Given the description of an element on the screen output the (x, y) to click on. 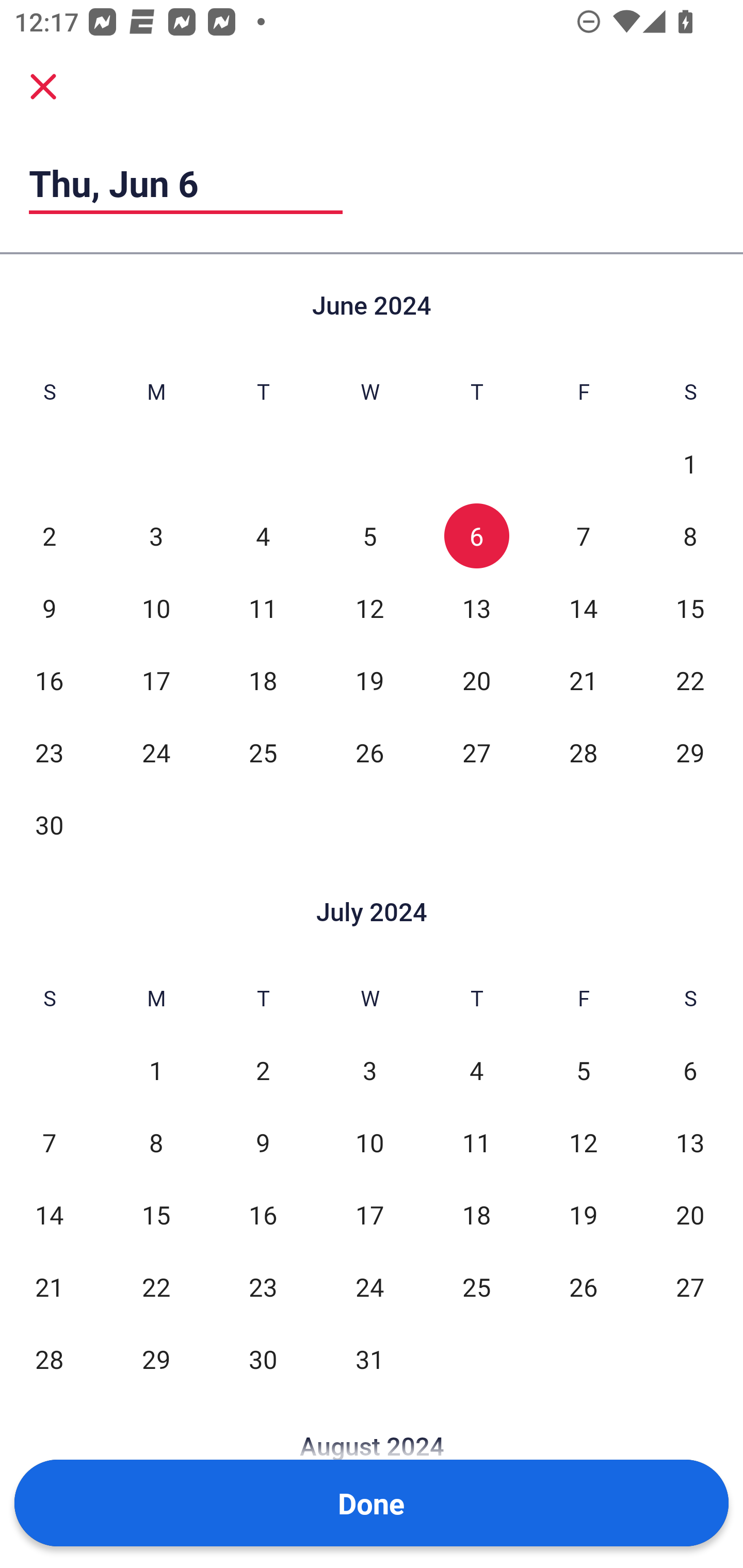
Cancel (43, 86)
Thu, Jun 6 (185, 182)
1 Sat, Jun 1, Not Selected (690, 464)
2 Sun, Jun 2, Not Selected (49, 536)
3 Mon, Jun 3, Not Selected (156, 536)
4 Tue, Jun 4, Not Selected (263, 536)
5 Wed, Jun 5, Not Selected (369, 536)
6 Thu, Jun 6, Selected (476, 536)
7 Fri, Jun 7, Not Selected (583, 536)
8 Sat, Jun 8, Not Selected (690, 536)
9 Sun, Jun 9, Not Selected (49, 608)
10 Mon, Jun 10, Not Selected (156, 608)
11 Tue, Jun 11, Not Selected (263, 608)
12 Wed, Jun 12, Not Selected (369, 608)
13 Thu, Jun 13, Not Selected (476, 608)
14 Fri, Jun 14, Not Selected (583, 608)
15 Sat, Jun 15, Not Selected (690, 608)
16 Sun, Jun 16, Not Selected (49, 680)
17 Mon, Jun 17, Not Selected (156, 680)
18 Tue, Jun 18, Not Selected (263, 680)
19 Wed, Jun 19, Not Selected (369, 680)
20 Thu, Jun 20, Not Selected (476, 680)
21 Fri, Jun 21, Not Selected (583, 680)
22 Sat, Jun 22, Not Selected (690, 680)
23 Sun, Jun 23, Not Selected (49, 752)
24 Mon, Jun 24, Not Selected (156, 752)
25 Tue, Jun 25, Not Selected (263, 752)
26 Wed, Jun 26, Not Selected (369, 752)
27 Thu, Jun 27, Not Selected (476, 752)
28 Fri, Jun 28, Not Selected (583, 752)
29 Sat, Jun 29, Not Selected (690, 752)
30 Sun, Jun 30, Not Selected (49, 824)
1 Mon, Jul 1, Not Selected (156, 1070)
2 Tue, Jul 2, Not Selected (263, 1070)
3 Wed, Jul 3, Not Selected (369, 1070)
4 Thu, Jul 4, Not Selected (476, 1070)
5 Fri, Jul 5, Not Selected (583, 1070)
6 Sat, Jul 6, Not Selected (690, 1070)
7 Sun, Jul 7, Not Selected (49, 1143)
8 Mon, Jul 8, Not Selected (156, 1143)
9 Tue, Jul 9, Not Selected (263, 1143)
10 Wed, Jul 10, Not Selected (369, 1143)
11 Thu, Jul 11, Not Selected (476, 1143)
12 Fri, Jul 12, Not Selected (583, 1143)
13 Sat, Jul 13, Not Selected (690, 1143)
14 Sun, Jul 14, Not Selected (49, 1215)
15 Mon, Jul 15, Not Selected (156, 1215)
16 Tue, Jul 16, Not Selected (263, 1215)
17 Wed, Jul 17, Not Selected (369, 1215)
18 Thu, Jul 18, Not Selected (476, 1215)
